Given the description of an element on the screen output the (x, y) to click on. 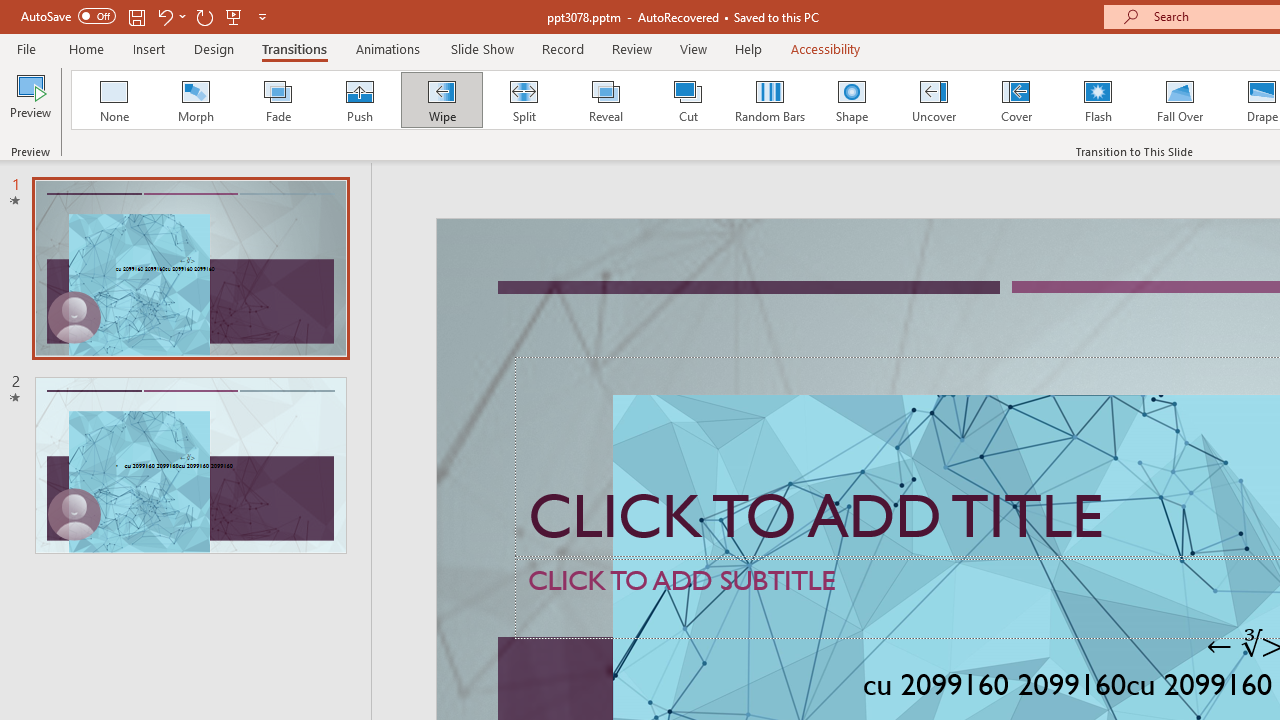
Cover (1016, 100)
Wipe (441, 100)
Push (359, 100)
Fade (277, 100)
Morph (195, 100)
